Given the description of an element on the screen output the (x, y) to click on. 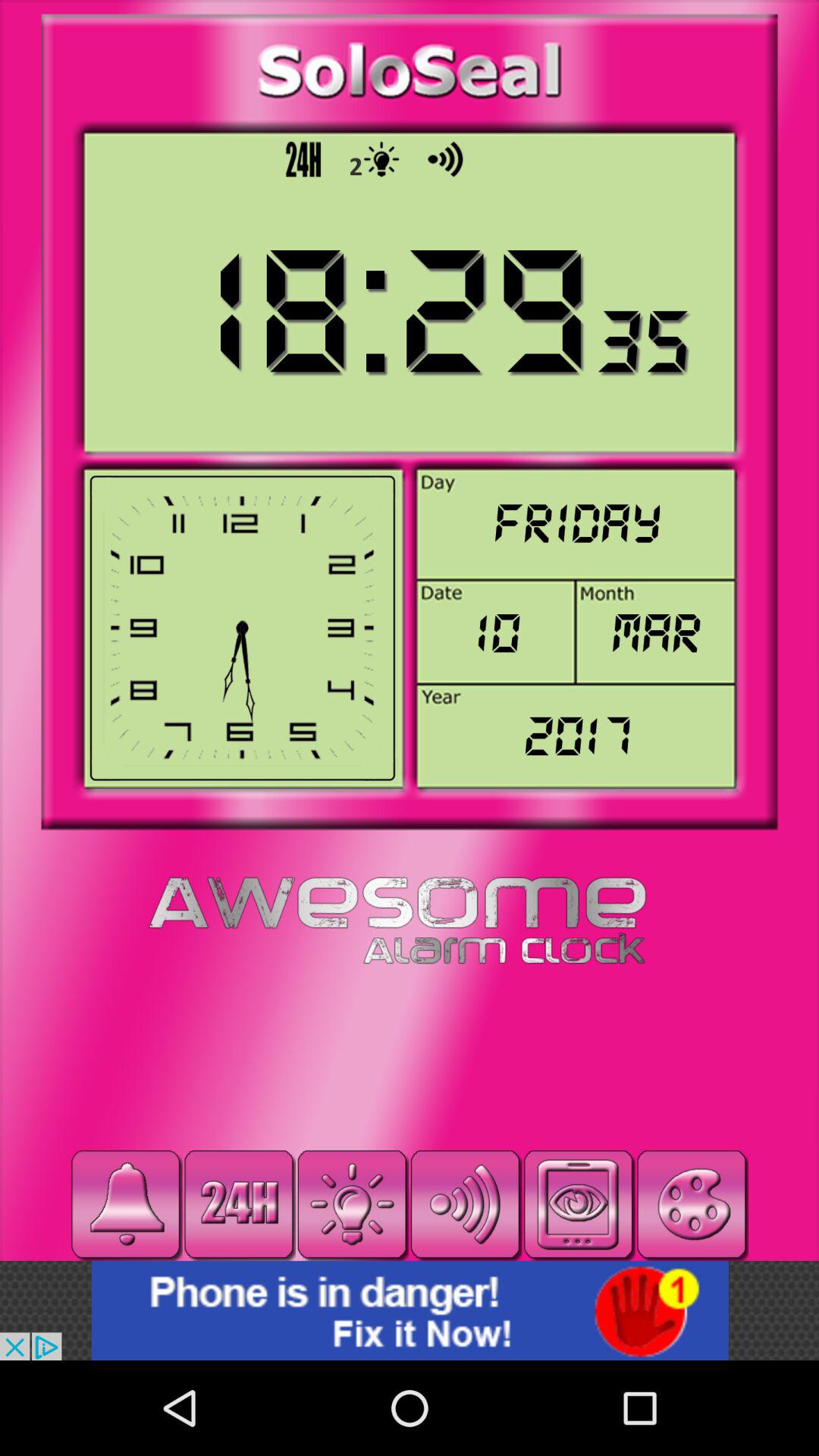
go to settings (351, 1203)
